Given the description of an element on the screen output the (x, y) to click on. 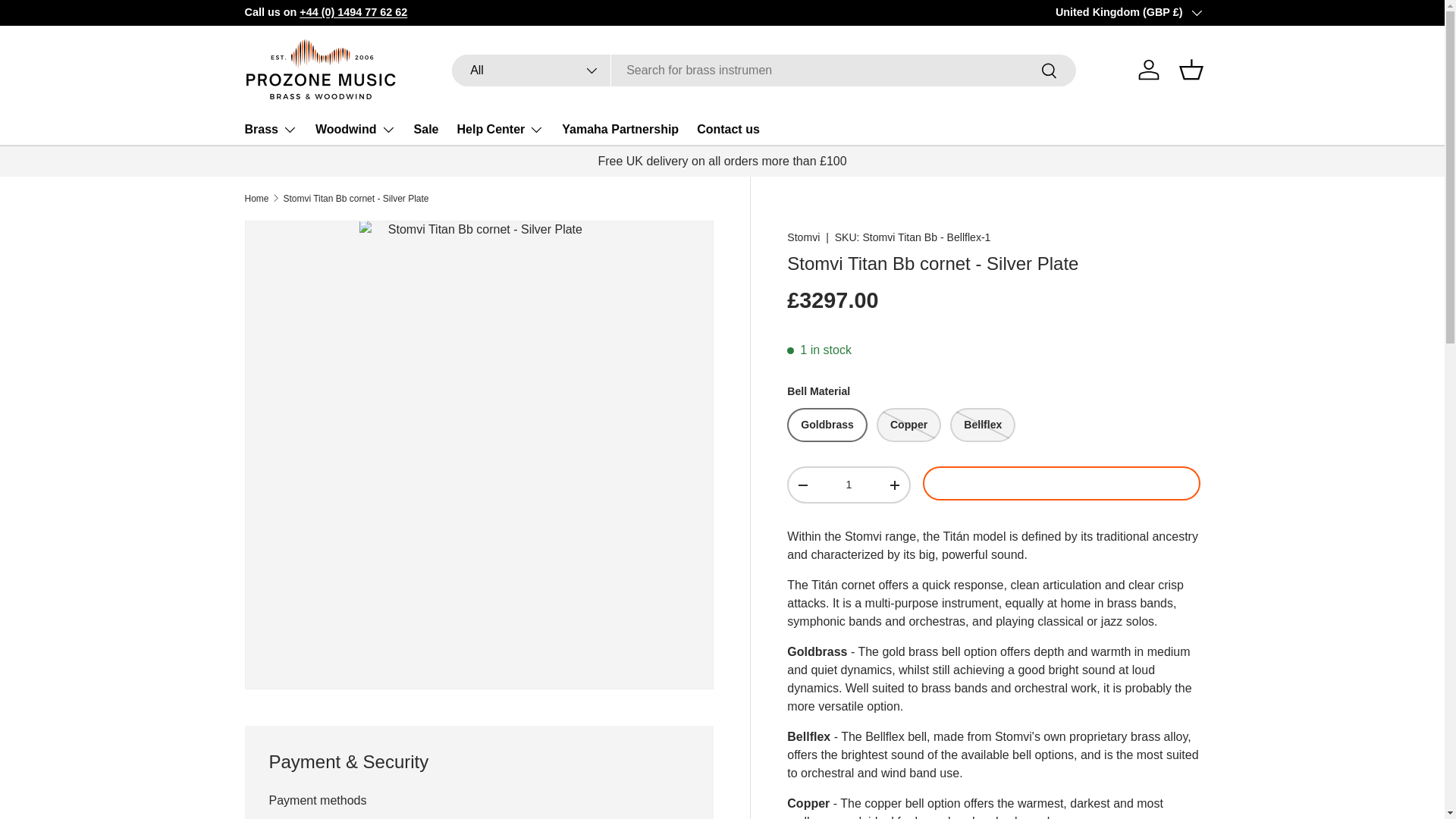
Brass (270, 129)
Skip to content (69, 21)
All (531, 70)
Basket (1190, 69)
Sold out (982, 424)
Log in (1147, 69)
Sold out (908, 424)
Search (1049, 71)
1 (847, 484)
